Given the description of an element on the screen output the (x, y) to click on. 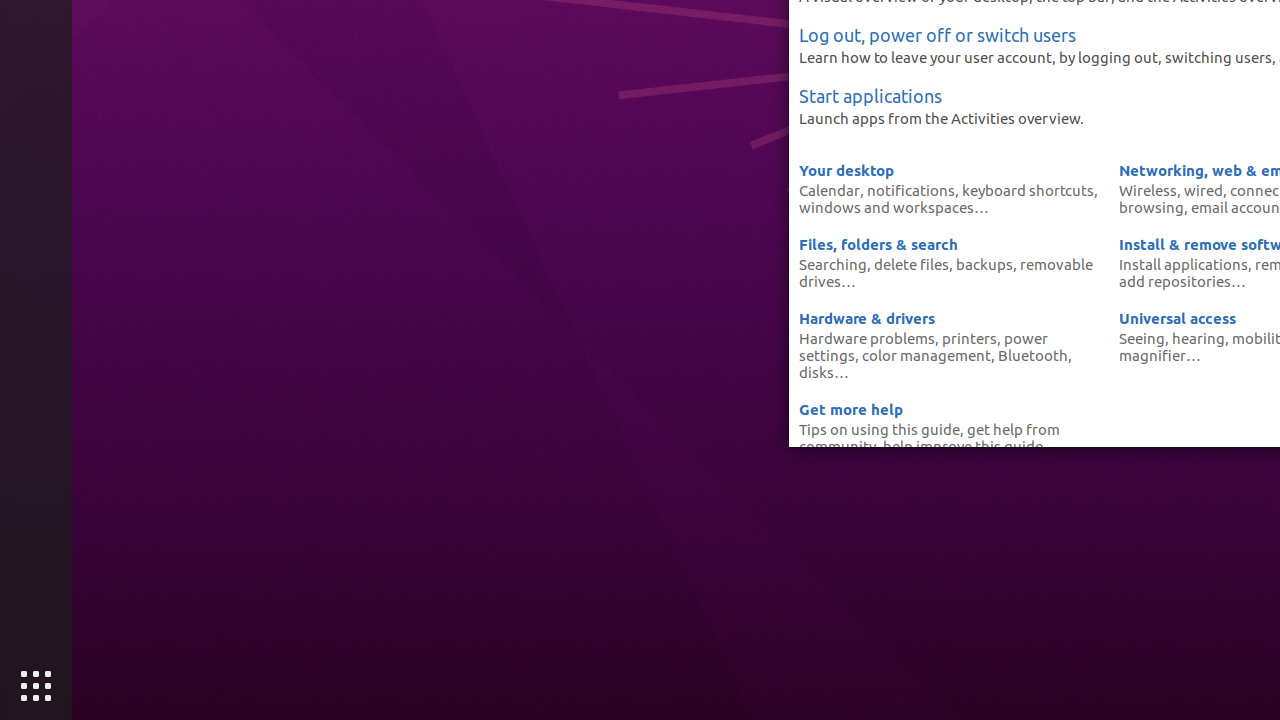
Bluetooth Element type: link (1033, 355)
power settings Element type: link (923, 346)
Calendar Element type: link (829, 190)
backups Element type: link (984, 264)
Get more help Element type: link (851, 409)
